Given the description of an element on the screen output the (x, y) to click on. 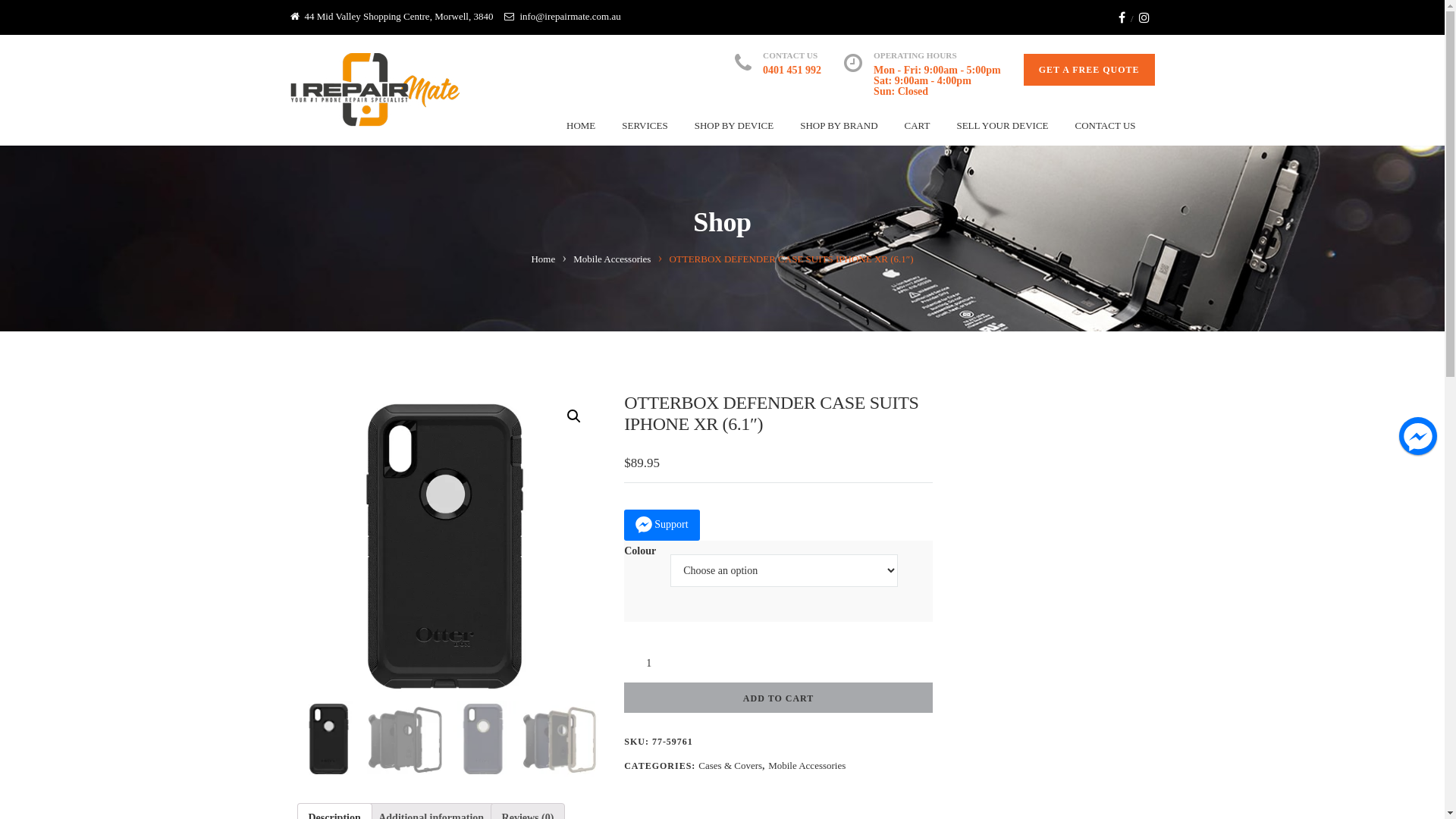
Support Element type: text (661, 524)
Cases & Covers Element type: text (730, 765)
remote.jpg (89) Element type: hover (443, 546)
Qty Element type: hover (653, 663)
Instagram Element type: hover (1143, 17)
I Repair Mate Element type: hover (373, 89)
SELL YOUR DEVICE Element type: text (1001, 125)
CART Element type: text (917, 125)
HOME Element type: text (580, 125)
ADD TO CART Element type: text (778, 697)
Mobile Accessories Element type: text (806, 765)
Home Element type: text (542, 258)
SERVICES Element type: text (644, 125)
SHOP BY DEVICE Element type: text (734, 125)
CONTACT US Element type: text (1105, 125)
Mobile Accessories Element type: text (611, 258)
GET A FREE QUOTE Element type: text (1088, 69)
SHOP BY BRAND Element type: text (838, 125)
Facebook Element type: hover (1121, 17)
